Given the description of an element on the screen output the (x, y) to click on. 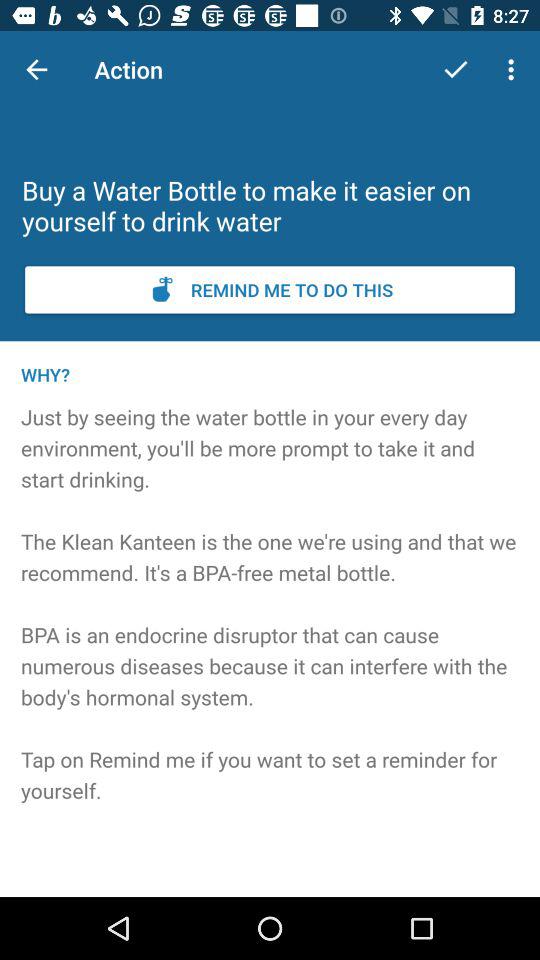
flip until just by seeing (270, 631)
